Given the description of an element on the screen output the (x, y) to click on. 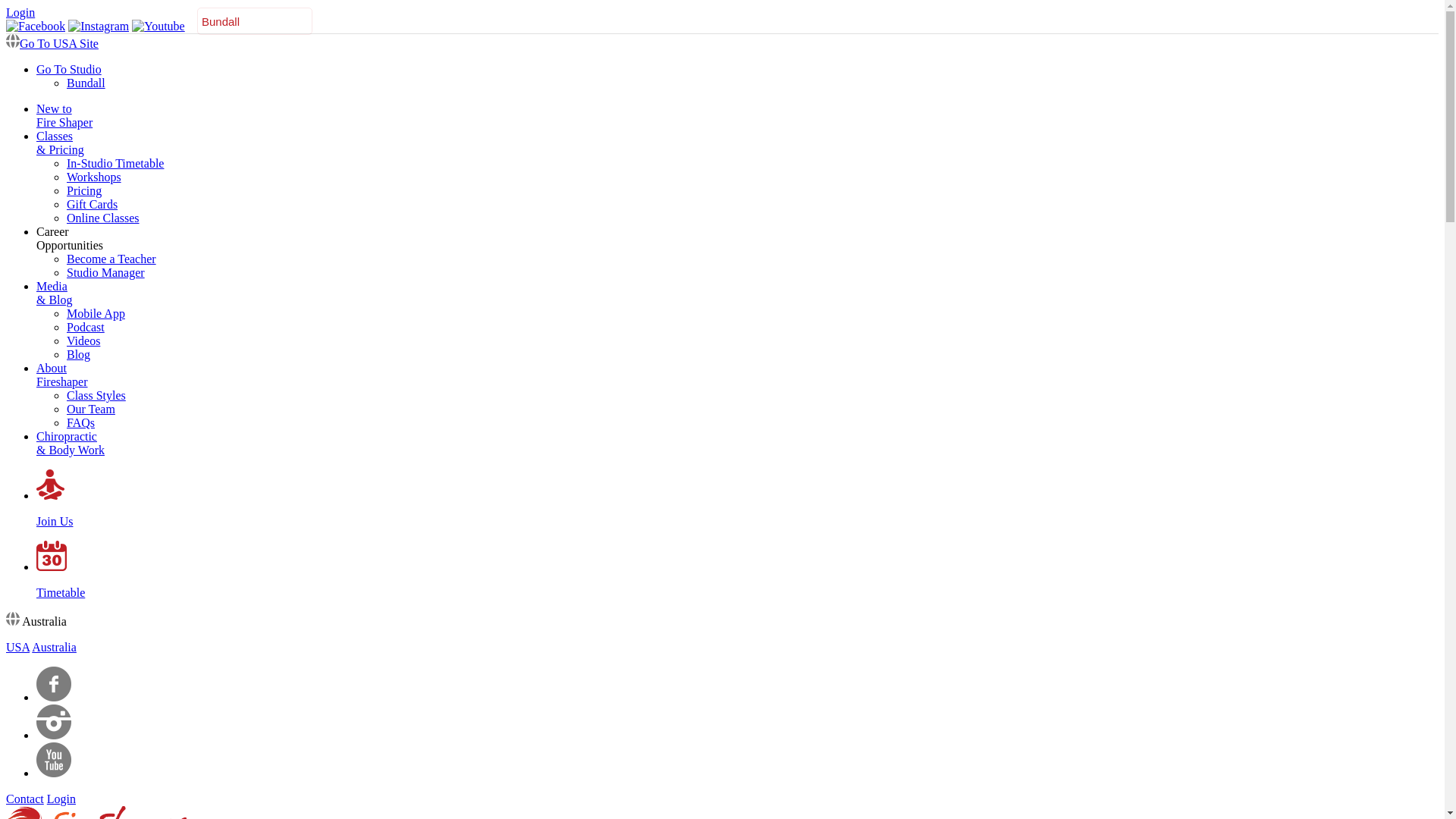
Pricing Element type: text (83, 190)
Our Team Element type: text (90, 408)
Studio Manager Element type: text (105, 272)
FAQs Element type: text (80, 422)
In-Studio Timetable Element type: text (114, 162)
Become a Teacher Element type: text (111, 258)
New to
Fire Shaper Element type: text (64, 115)
Podcast Element type: text (85, 326)
Contact Element type: text (24, 798)
Go To USA Site Element type: text (52, 43)
Class Styles Element type: text (95, 395)
Timetable Element type: text (737, 579)
Media
& Blog Element type: text (54, 292)
Blog Element type: text (78, 354)
Gift Cards Element type: text (91, 203)
Login Element type: text (20, 12)
Online Classes Element type: text (102, 217)
USA Element type: text (17, 646)
Join Us Element type: text (737, 508)
Classes
& Pricing Element type: text (60, 142)
Australia Element type: text (53, 646)
Mobile App Element type: text (95, 313)
About
Fireshaper Element type: text (61, 374)
Career
Opportunities Element type: text (69, 238)
Bundall Element type: text (85, 82)
Videos Element type: text (83, 340)
Go To Studio Element type: text (68, 68)
Workshops Element type: text (93, 176)
Chiropractic
& Body Work Element type: text (70, 442)
Login Element type: text (61, 798)
